Given the description of an element on the screen output the (x, y) to click on. 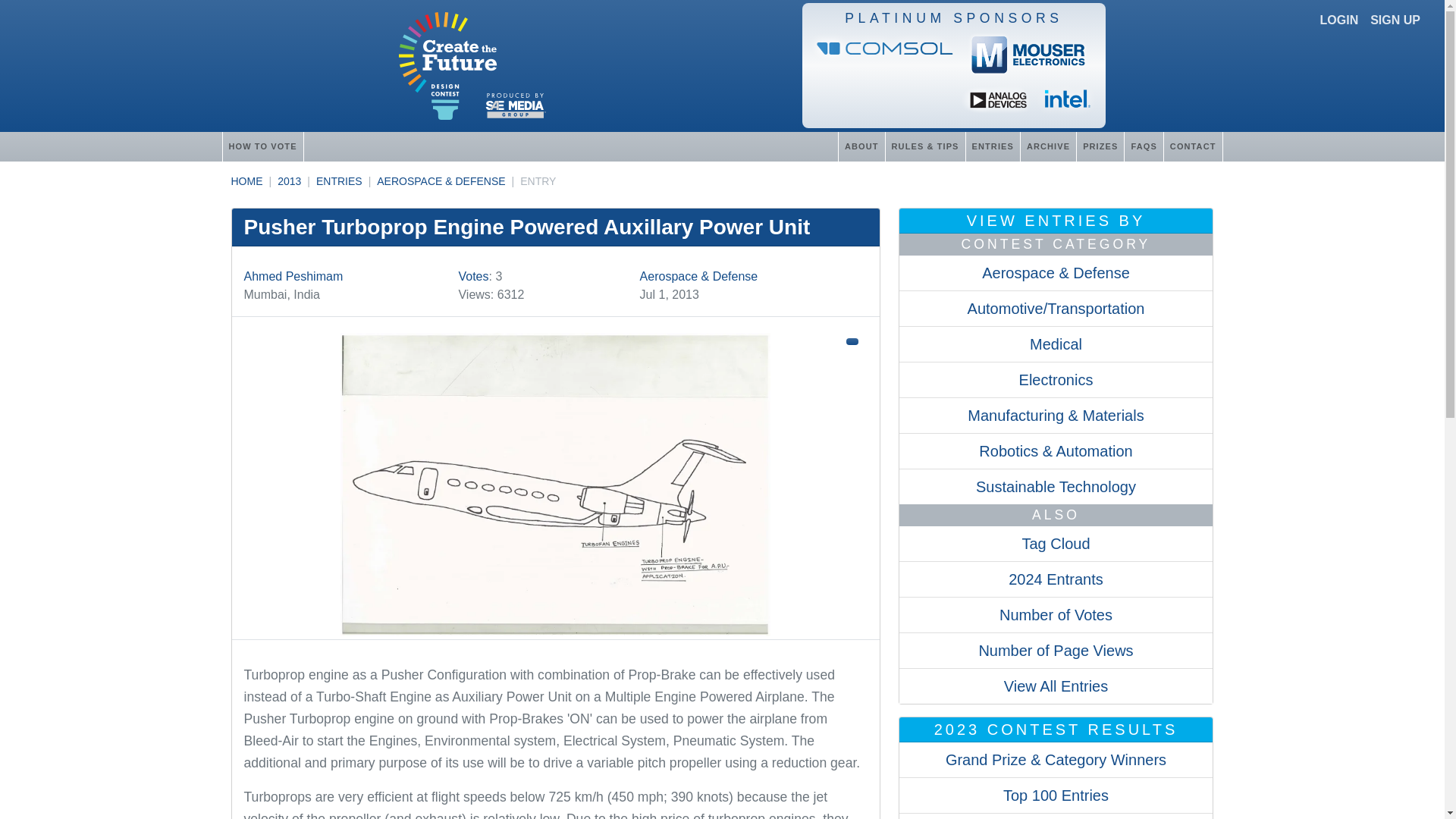
2013 (289, 181)
ARCHIVE (1047, 146)
ABOUT (861, 146)
SIGN UP (1395, 20)
HOME (246, 181)
PRIZES (1099, 146)
Votes (472, 276)
Ahmed Peshimam (293, 276)
ENTRIES (338, 181)
FAQS (1142, 146)
